Given the description of an element on the screen output the (x, y) to click on. 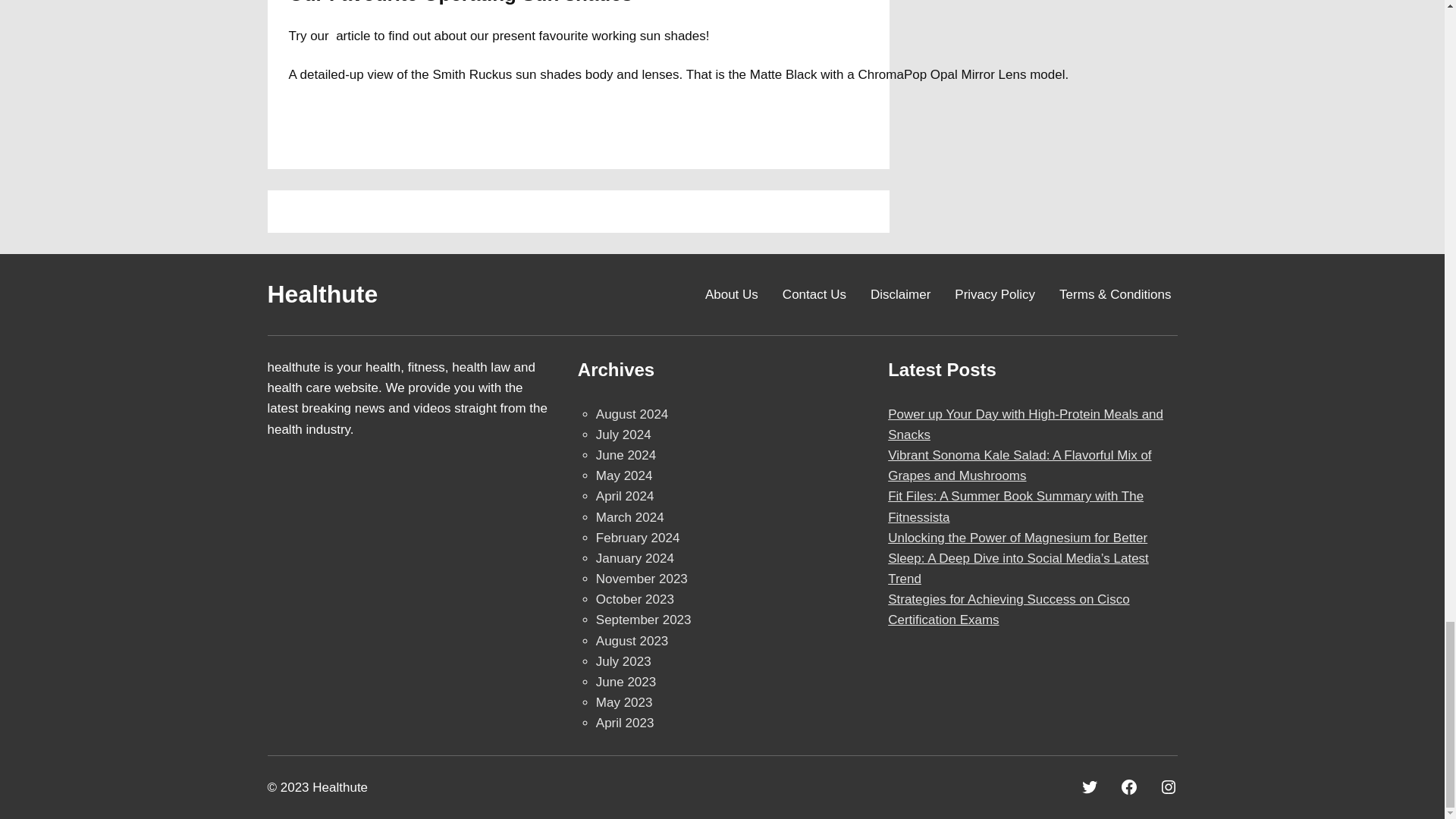
Disclaimer (900, 294)
Healthute (321, 293)
Privacy Policy (995, 294)
About Us (731, 294)
Contact Us (813, 294)
